Given the description of an element on the screen output the (x, y) to click on. 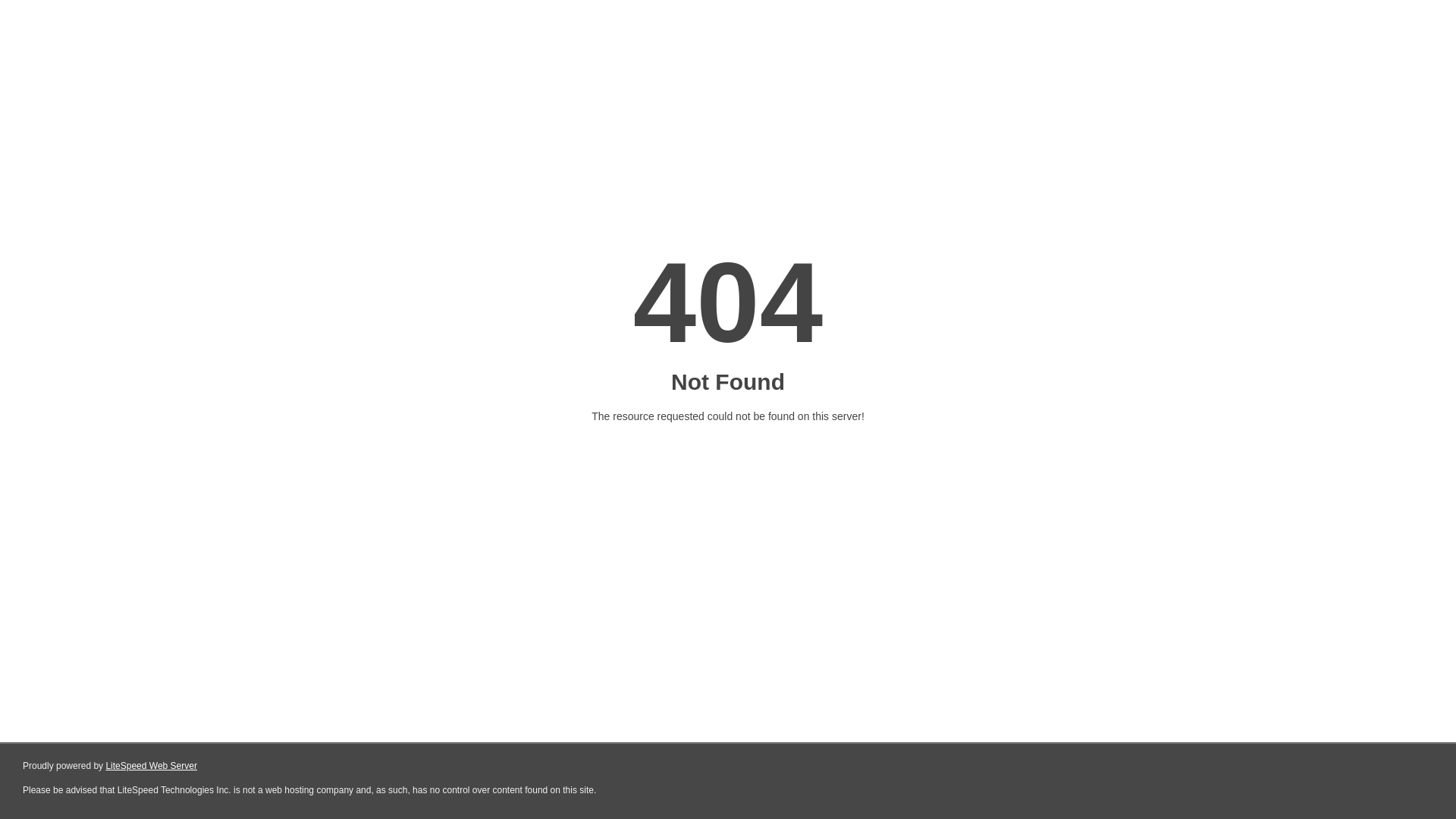
LiteSpeed Web Server Element type: text (151, 765)
